Given the description of an element on the screen output the (x, y) to click on. 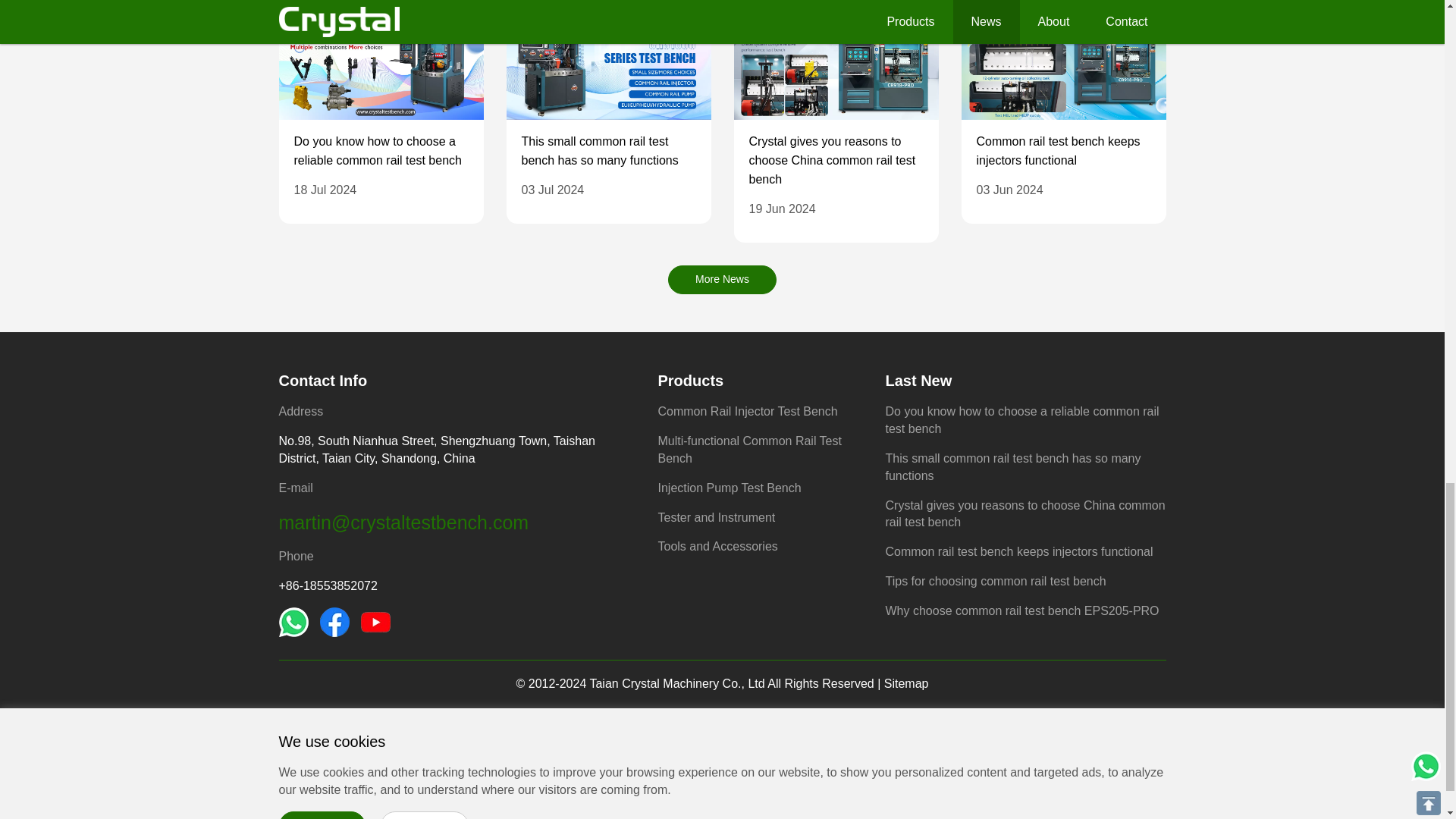
This small common rail test bench has so many functions (1013, 467)
Sitemap (905, 683)
Common Rail Injector Test Bench (748, 410)
Tester and Instrument (717, 517)
Injection Pump Test Bench (730, 487)
This small common rail test bench has so many functions (599, 151)
Common rail test bench keeps injectors functional (1019, 551)
Tools and Accessories (717, 545)
More News (722, 279)
Do you know how to choose a reliable common rail test bench (1021, 419)
